Given the description of an element on the screen output the (x, y) to click on. 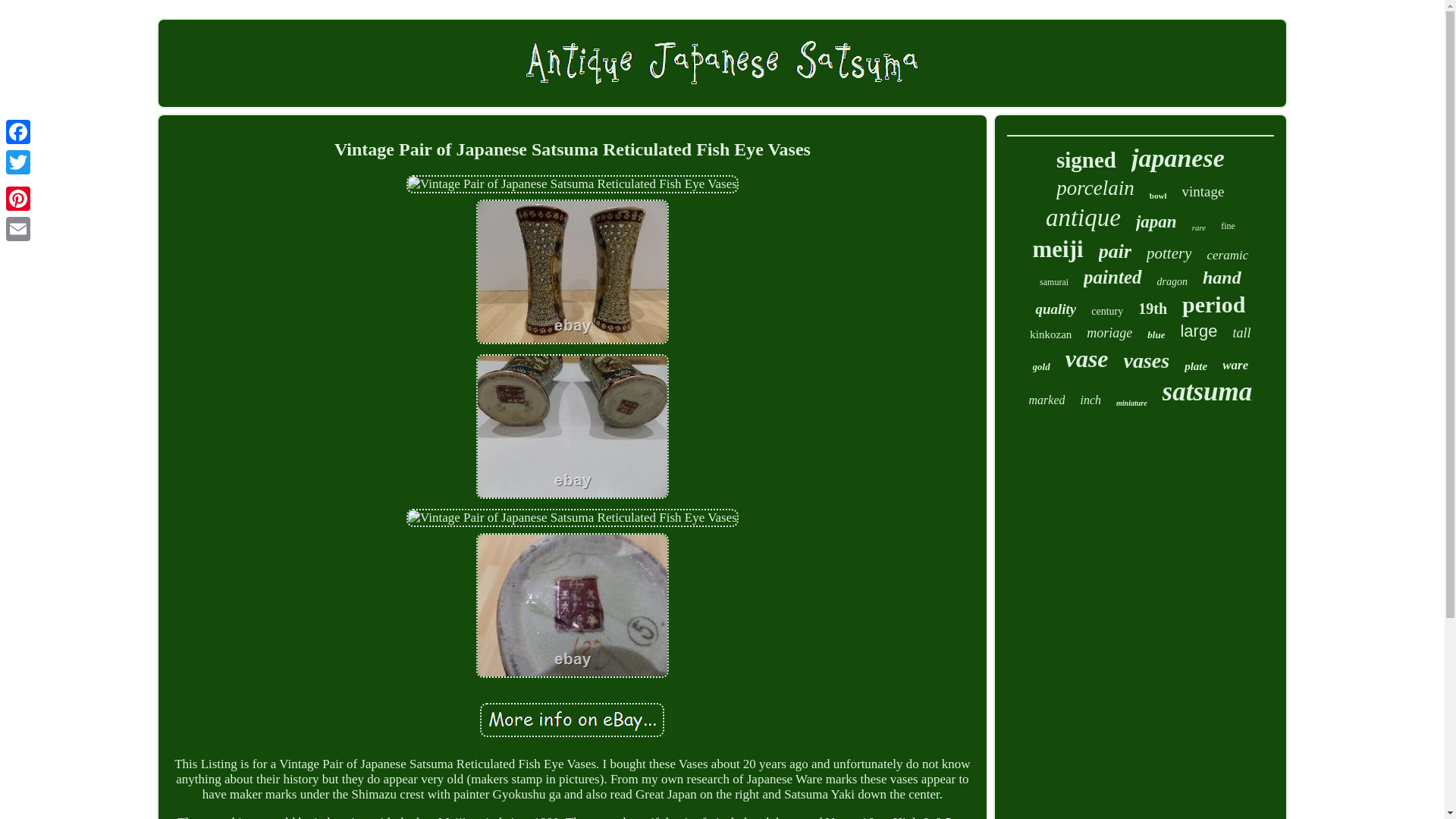
pair (1115, 251)
Pinterest (17, 198)
quality (1055, 309)
large (1198, 331)
19th (1152, 308)
samurai (1053, 282)
kinkozan (1050, 334)
gold (1040, 367)
painted (1112, 277)
vase (1086, 358)
